Given the description of an element on the screen output the (x, y) to click on. 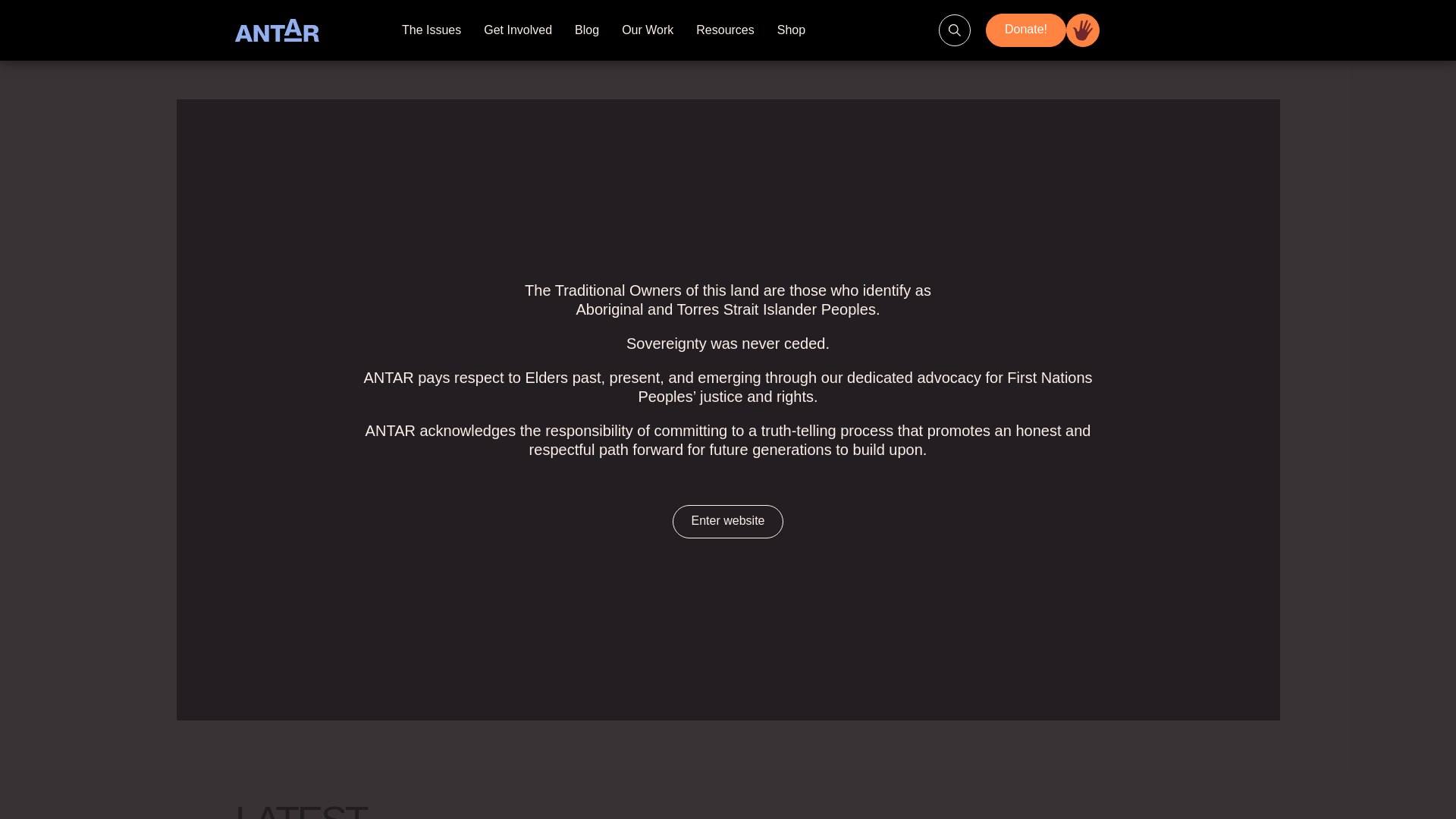
Blog Element type: text (586, 29)
Resources Element type: text (724, 29)
Enter website Element type: text (728, 521)
Read Element type: text (462, 684)
Donate! Element type: text (1042, 30)
The Issues Element type: text (431, 29)
Read Element type: text (962, 684)
Get Involved Element type: text (517, 29)
ANTAR 25 Years Keynote: Linda Burney Element type: text (947, 602)
Our Work Element type: text (647, 29)
Shop Element type: text (791, 29)
